Given the description of an element on the screen output the (x, y) to click on. 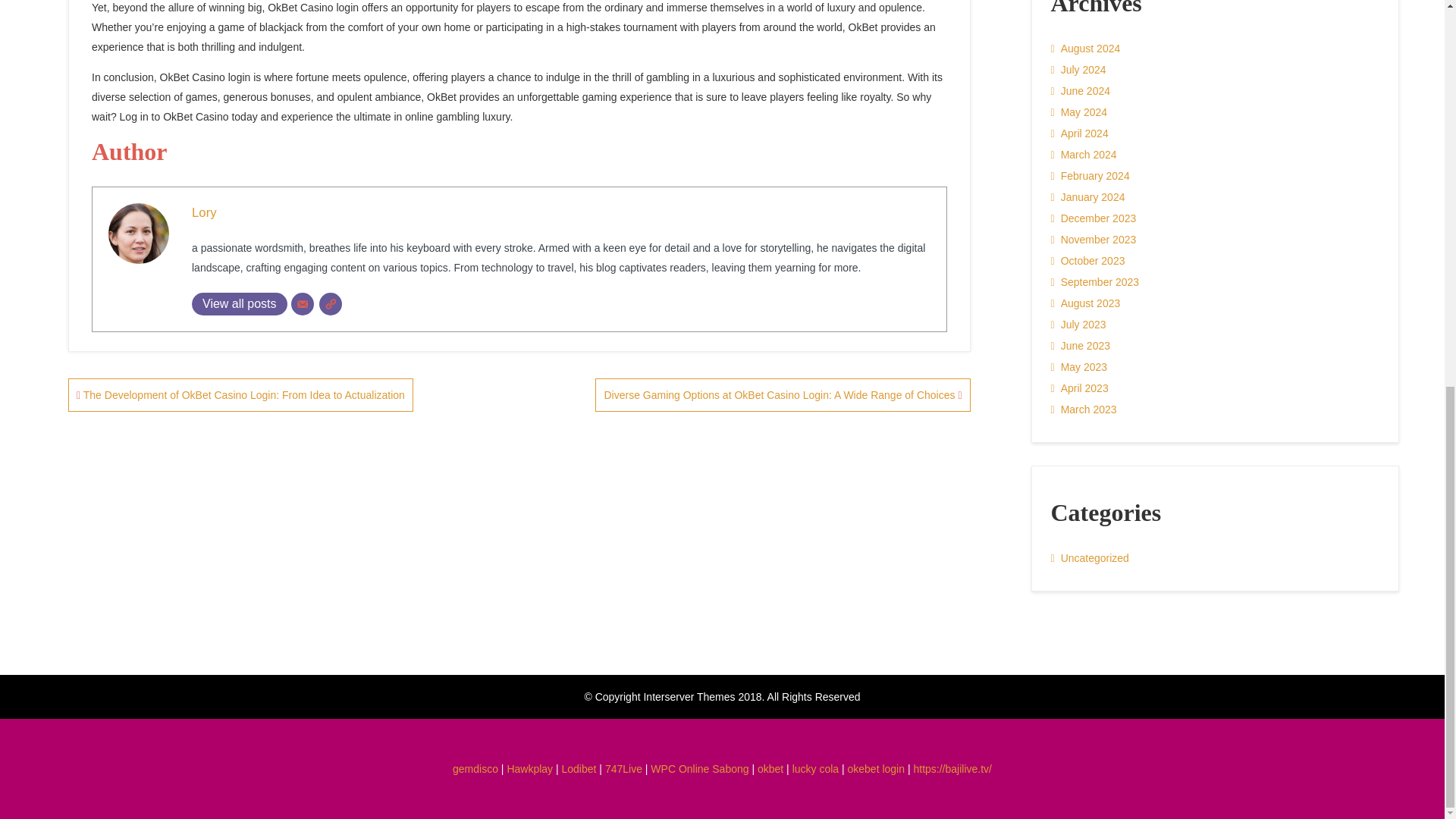
May 2024 (1079, 111)
View all posts (239, 303)
June 2024 (1080, 90)
Lory (204, 212)
April 2023 (1079, 387)
October 2023 (1088, 260)
July 2024 (1078, 69)
June 2023 (1080, 345)
Lory (204, 212)
